Given the description of an element on the screen output the (x, y) to click on. 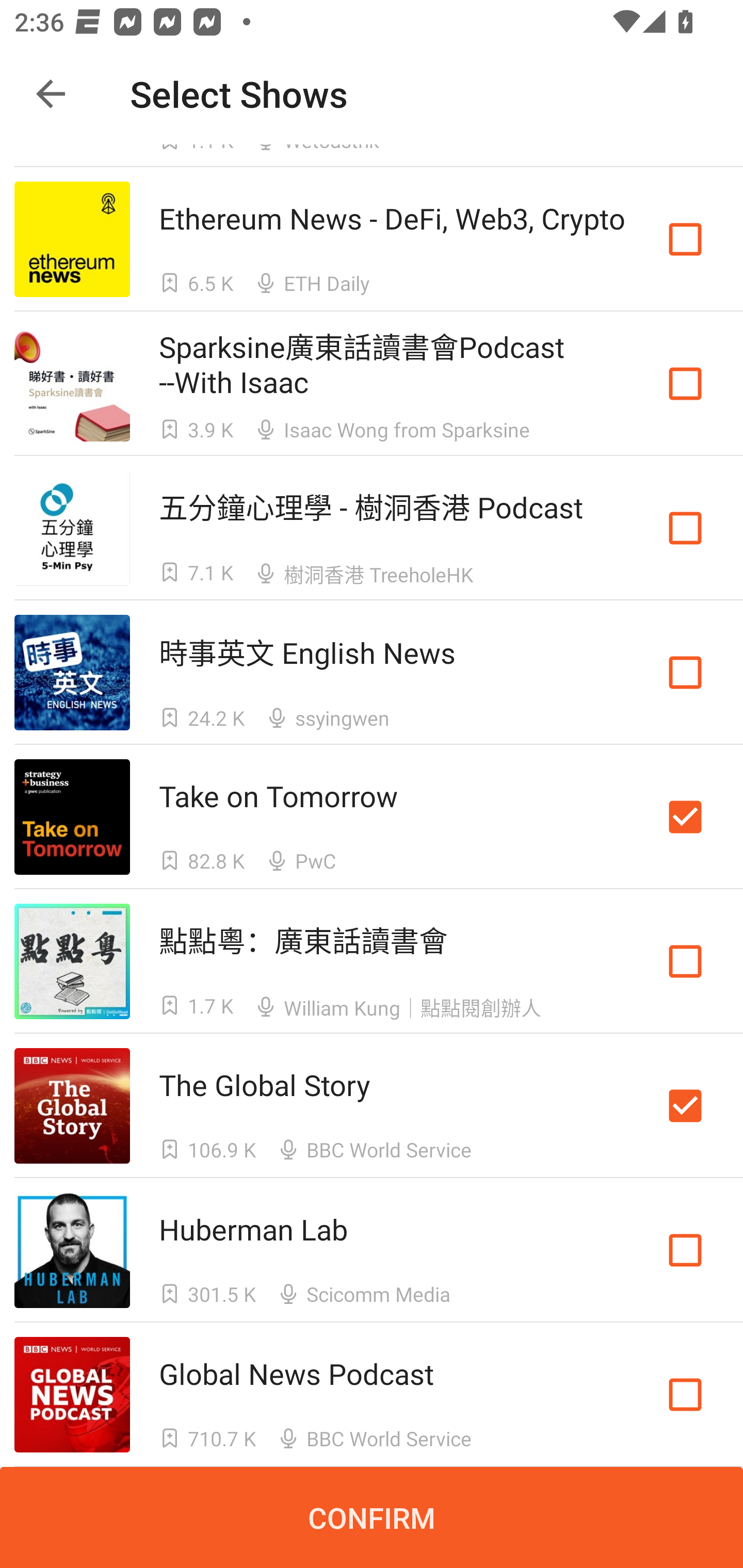
Navigate up (50, 93)
Take on Tomorrow Take on Tomorrow  82.8 K  PwC (371, 816)
CONFIRM (371, 1517)
